Given the description of an element on the screen output the (x, y) to click on. 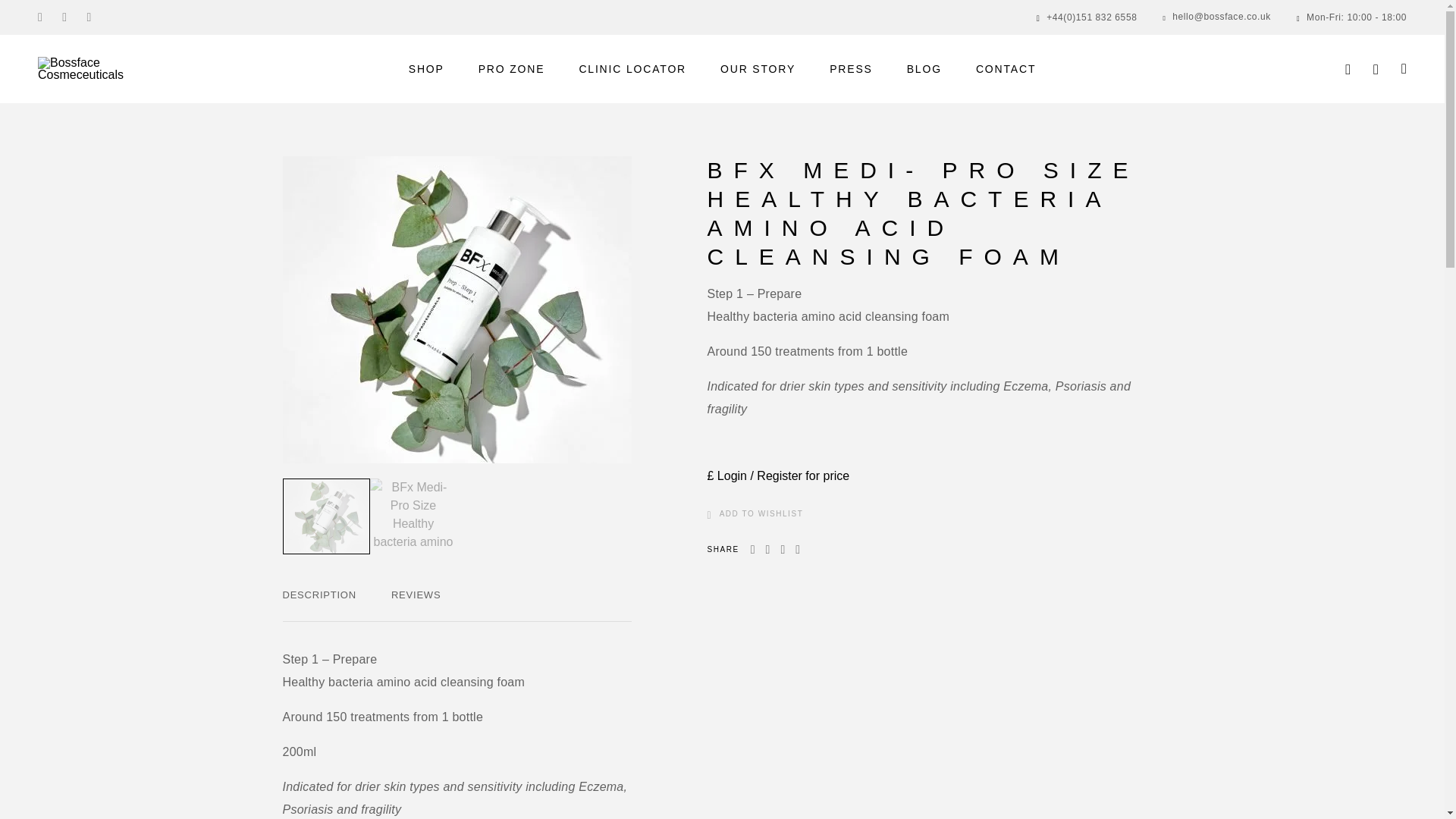
OUR STORY (757, 69)
PRO ZONE (511, 69)
SHOP (426, 69)
CONTACT (1005, 69)
BLOG (924, 69)
PRESS (850, 69)
CLINIC LOCATOR (631, 69)
